Given the description of an element on the screen output the (x, y) to click on. 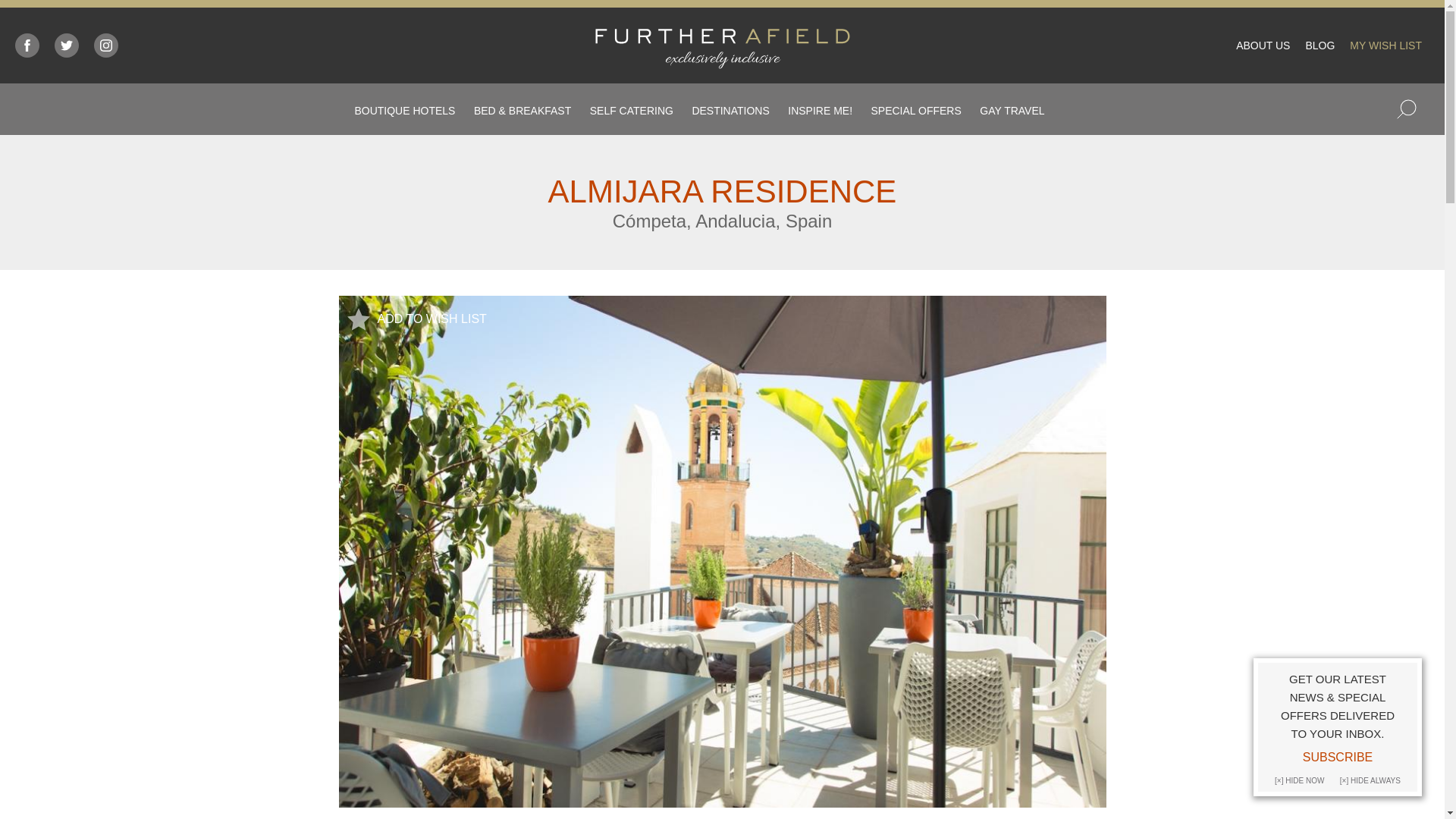
SELF CATERING (630, 110)
SPECIAL OFFERS (915, 110)
DESTINATIONS (729, 110)
GAY TRAVEL (1011, 110)
BOUTIQUE HOTELS (403, 110)
Add to Wishlist (358, 318)
BLOG (1319, 45)
MY WISH LIST (1385, 45)
INSPIRE ME! (819, 110)
ABOUT US (1263, 45)
